Given the description of an element on the screen output the (x, y) to click on. 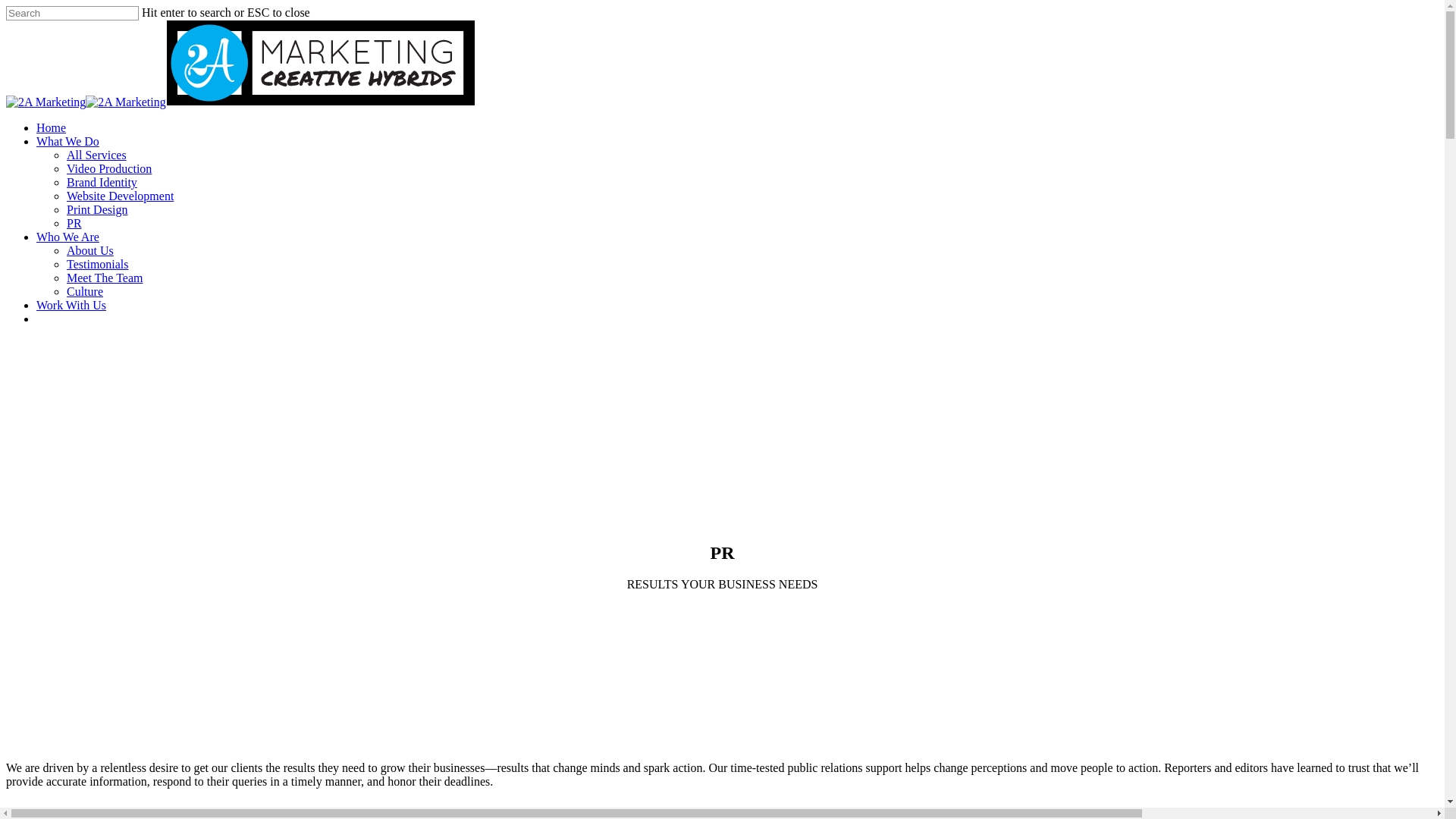
All Services Element type: text (96, 154)
Skip to main content Element type: text (5, 5)
Meet The Team Element type: text (104, 277)
What We Do Element type: text (67, 140)
Who We Are Element type: text (67, 236)
Home Element type: text (50, 127)
Brand Identity Element type: text (101, 181)
PR Element type: text (73, 222)
About Us Element type: text (89, 250)
Video Production Element type: text (108, 168)
Print Design Element type: text (96, 209)
Work With Us Element type: text (71, 304)
Website Development Element type: text (119, 195)
Testimonials Element type: text (97, 263)
Culture Element type: text (84, 291)
